Given the description of an element on the screen output the (x, y) to click on. 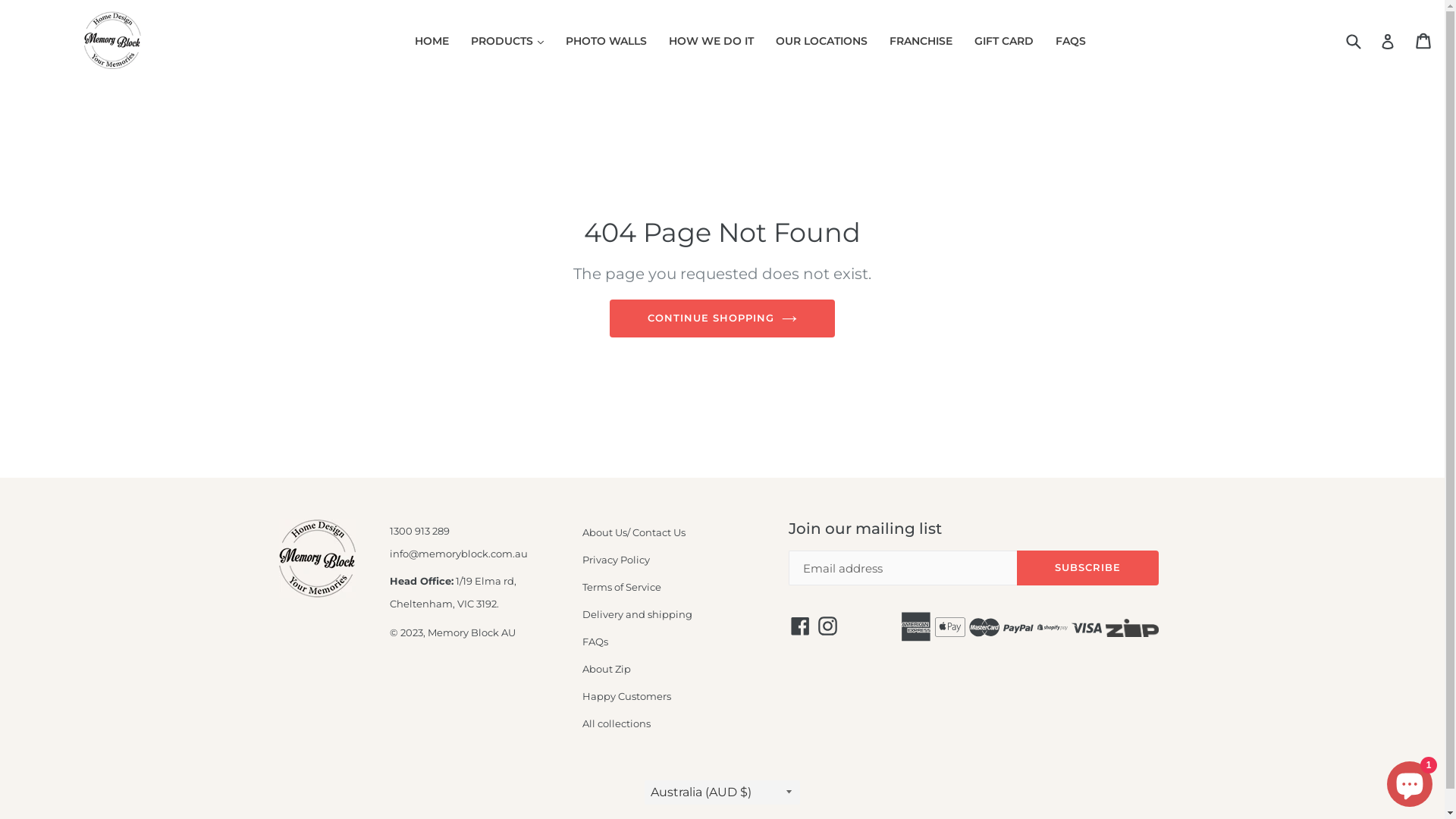
Cart Element type: text (1424, 39)
About Us/ Contact Us Element type: text (633, 532)
CONTINUE SHOPPING Element type: text (721, 318)
PHOTO WALLS Element type: text (605, 41)
SUBSCRIBE Element type: text (1087, 567)
FAQs Element type: text (595, 641)
FRANCHISE Element type: text (920, 41)
About Zip Element type: text (606, 668)
Instagram Element type: text (827, 624)
Terms of Service Element type: text (621, 586)
GIFT CARD Element type: text (1003, 41)
OUR LOCATIONS Element type: text (821, 41)
FAQS Element type: text (1070, 41)
All collections Element type: text (616, 723)
HOME Element type: text (431, 41)
1300 913 289 Element type: text (478, 530)
Log in Element type: text (1387, 39)
Happy Customers Element type: text (626, 696)
Submit Element type: text (1352, 39)
Facebook Element type: text (800, 624)
HOW WE DO IT Element type: text (710, 41)
Privacy Policy Element type: text (615, 559)
Memory Block AU Element type: text (471, 632)
Delivery and shipping Element type: text (637, 614)
info@memoryblock.com.au Element type: text (458, 553)
Shopify online store chat Element type: hover (1409, 780)
